Given the description of an element on the screen output the (x, y) to click on. 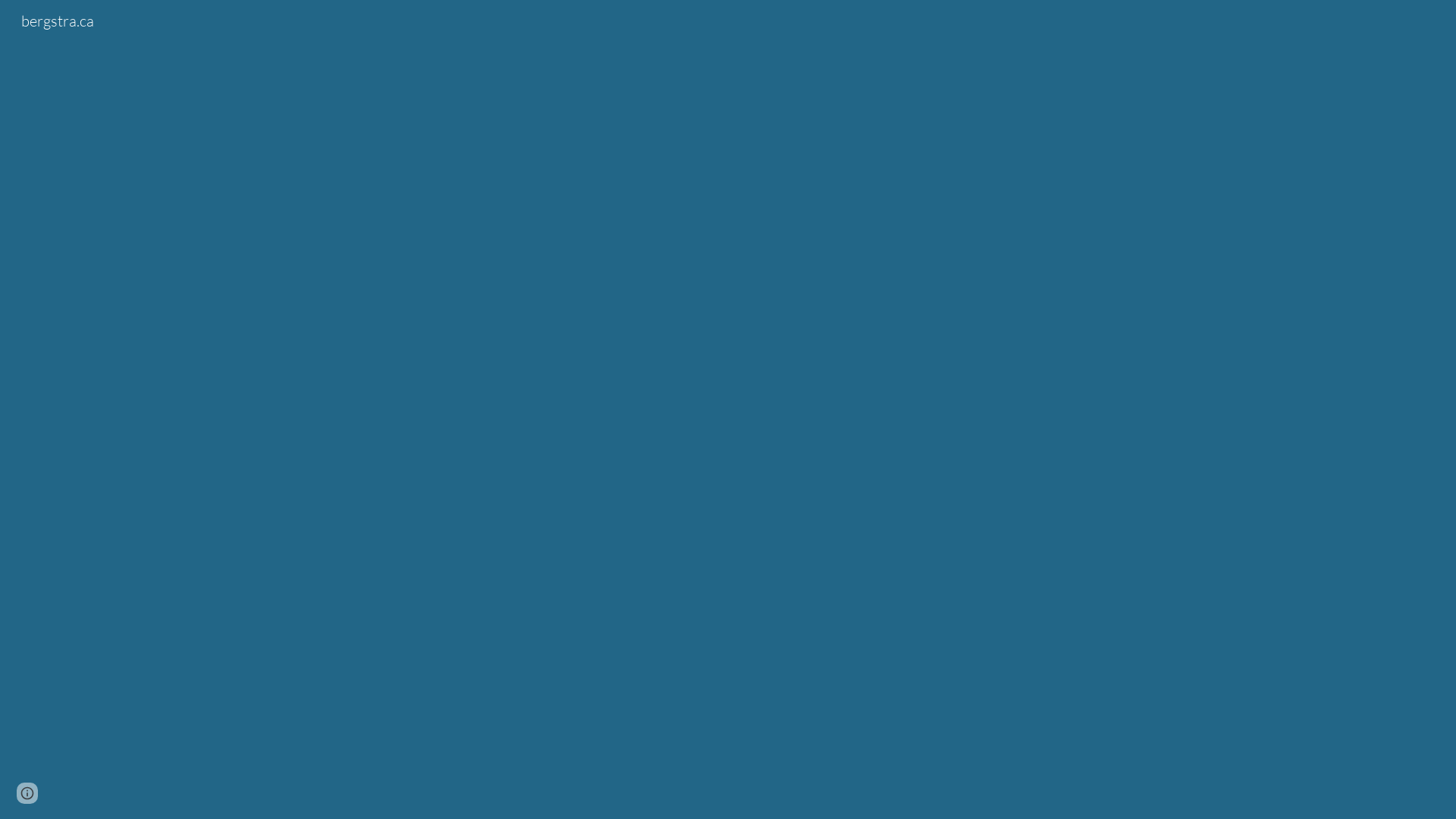
bergstra.ca Element type: text (57, 18)
